Given the description of an element on the screen output the (x, y) to click on. 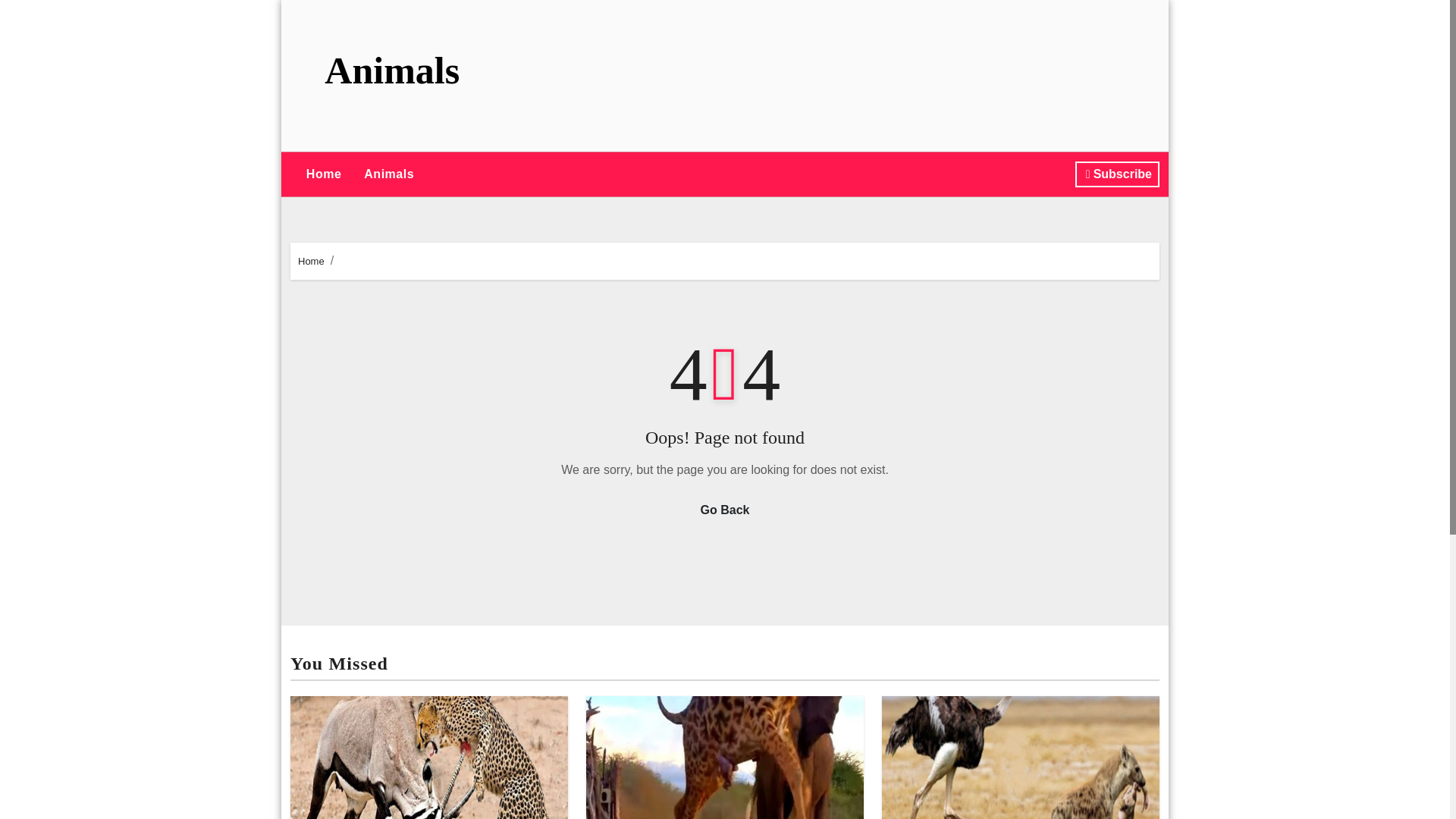
Animals (388, 174)
Subscribe (1116, 174)
Animals (388, 174)
Animals (392, 69)
Home (311, 260)
Go Back (725, 510)
Home (323, 174)
Home (323, 174)
